Given the description of an element on the screen output the (x, y) to click on. 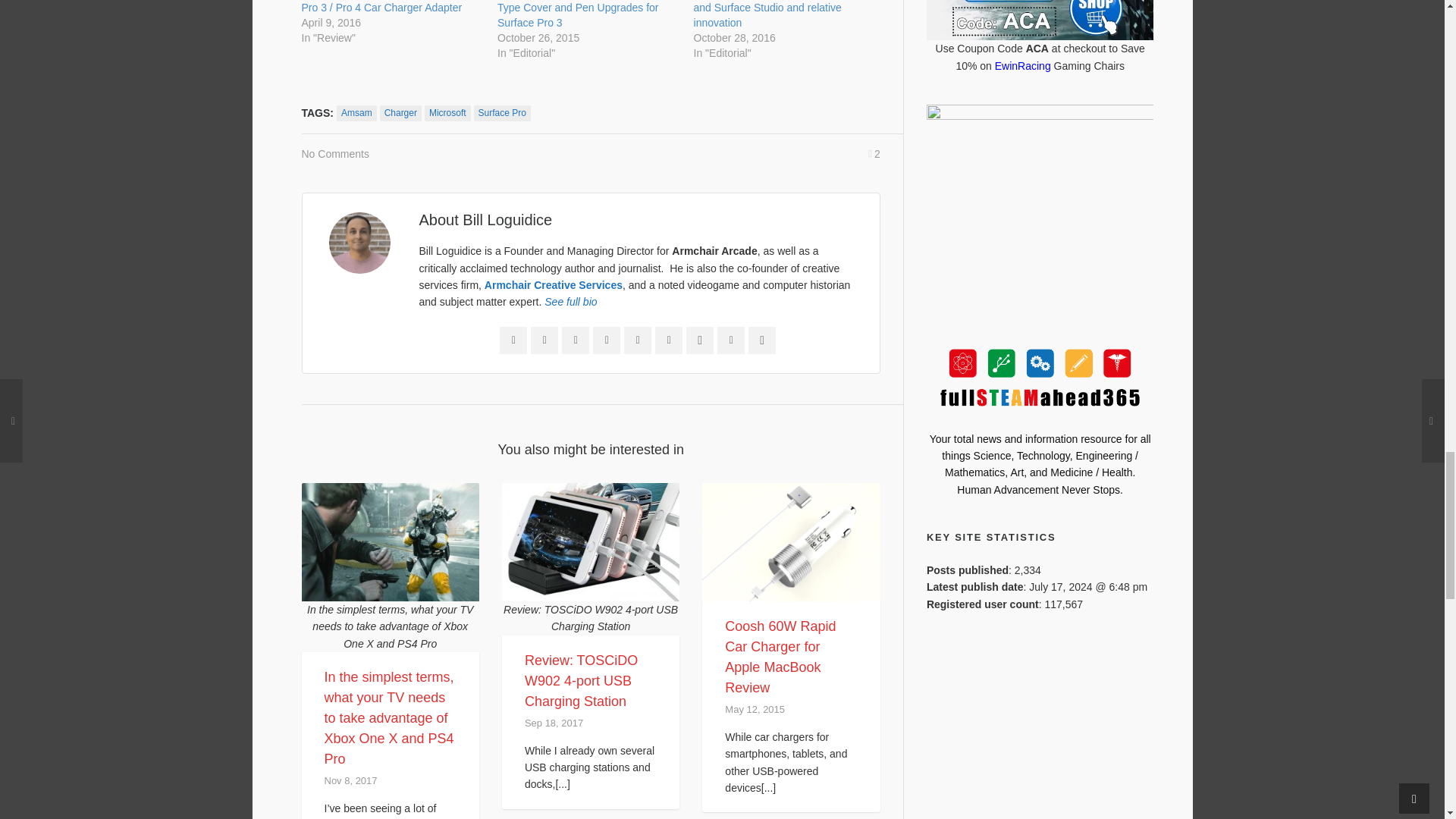
No Comments (335, 153)
Mail (513, 339)
LinkedIn (575, 339)
Facebook (544, 339)
